Given the description of an element on the screen output the (x, y) to click on. 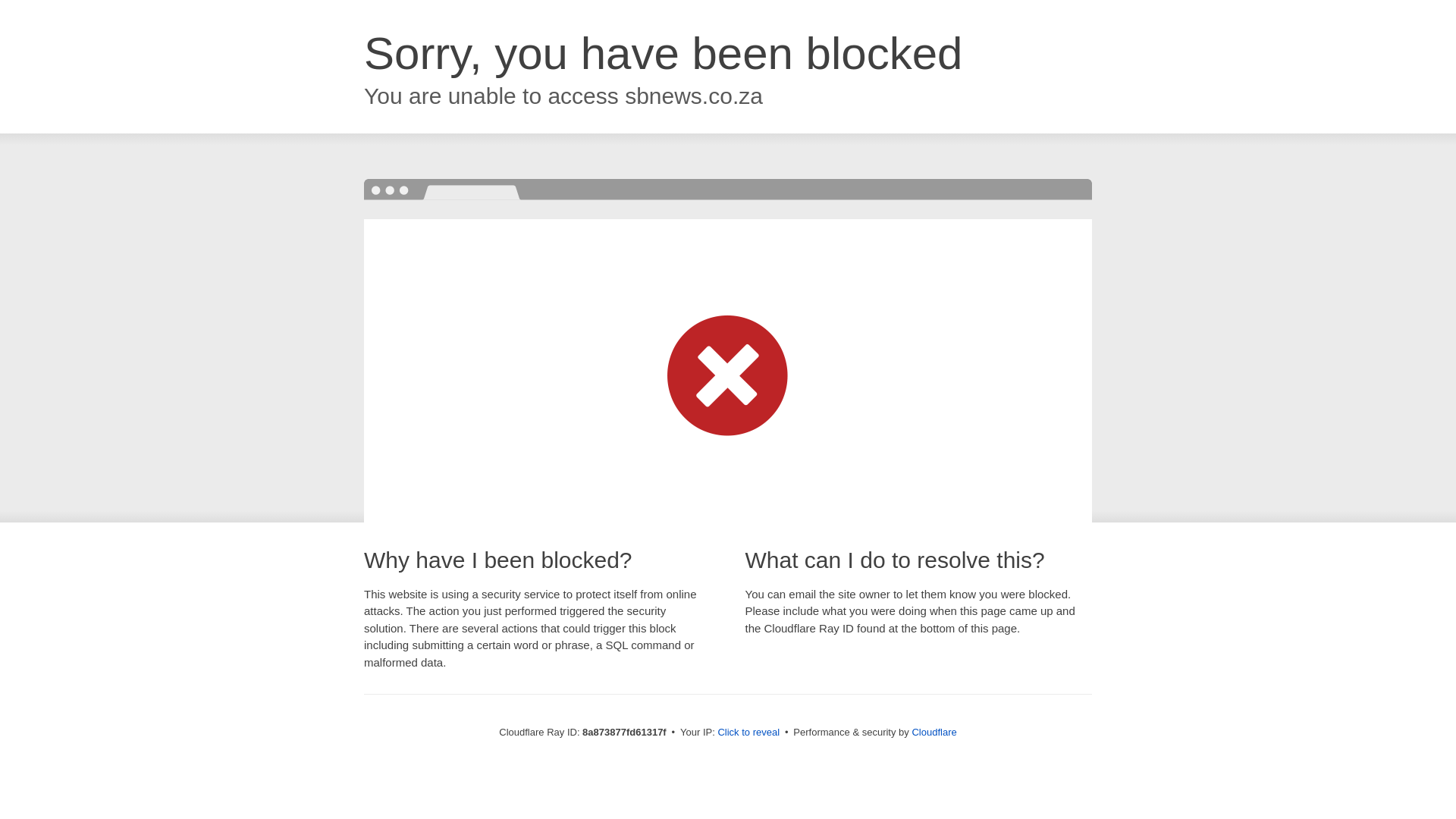
Click to reveal (747, 732)
Cloudflare (933, 731)
